Given the description of an element on the screen output the (x, y) to click on. 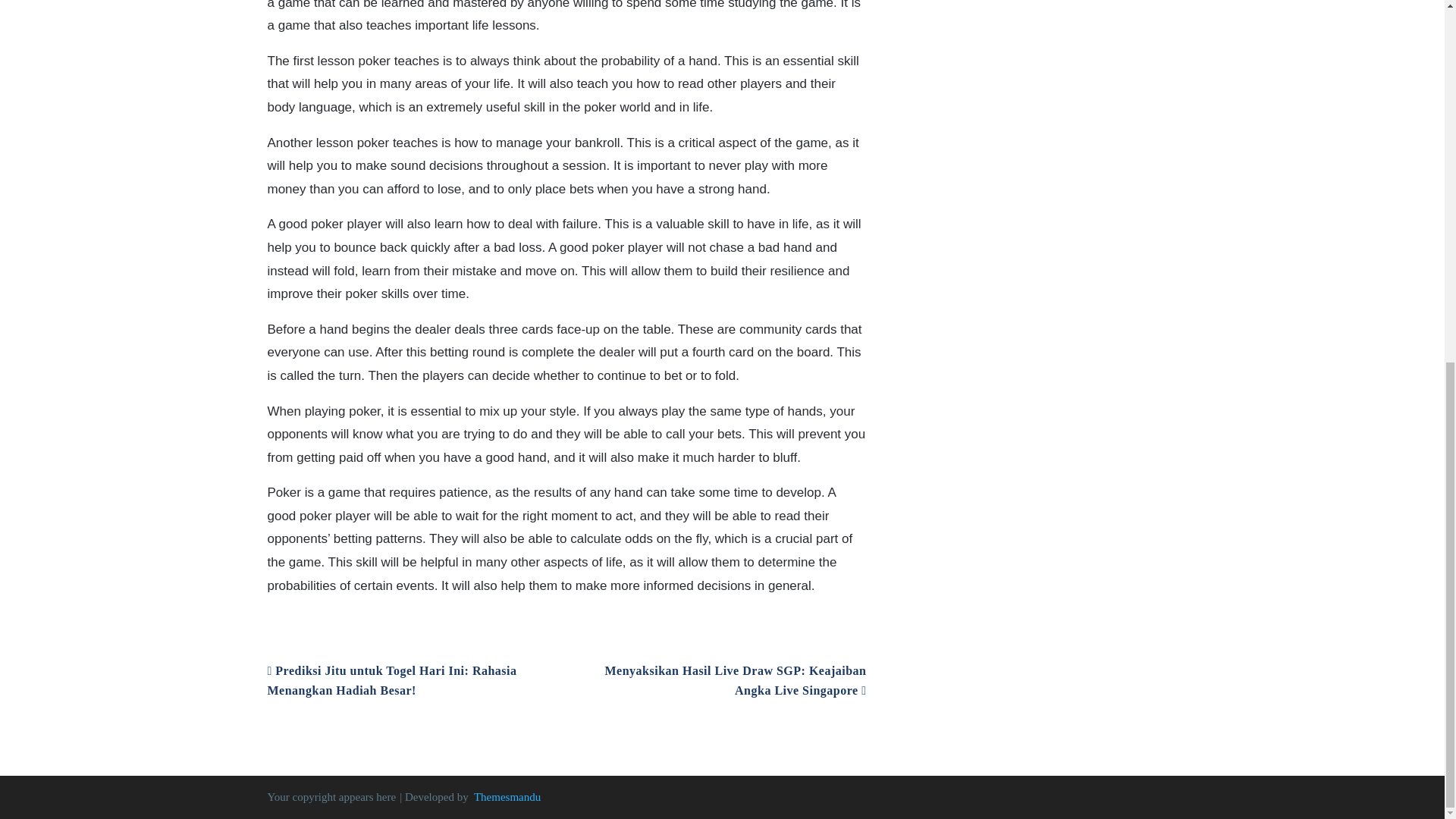
Themesmandu (507, 797)
